Given the description of an element on the screen output the (x, y) to click on. 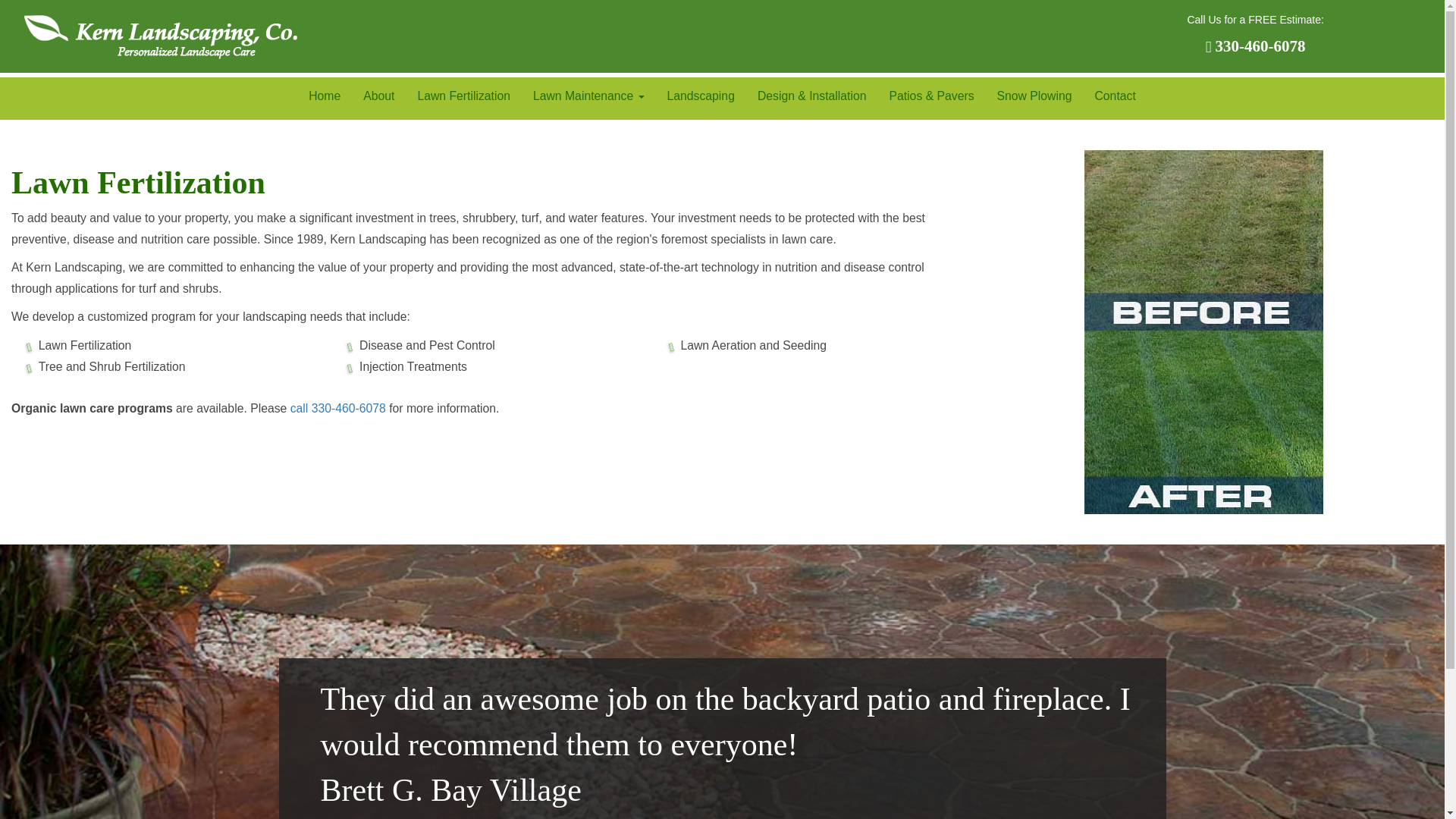
330-460-6078 (1255, 45)
Snow Plowing (1034, 95)
Home (324, 95)
Lawn Fertilization (463, 95)
call 330-460-6078 (337, 408)
Landscaping (700, 95)
Contact (1115, 95)
About (379, 95)
Lawn Maintenance (588, 95)
